Given the description of an element on the screen output the (x, y) to click on. 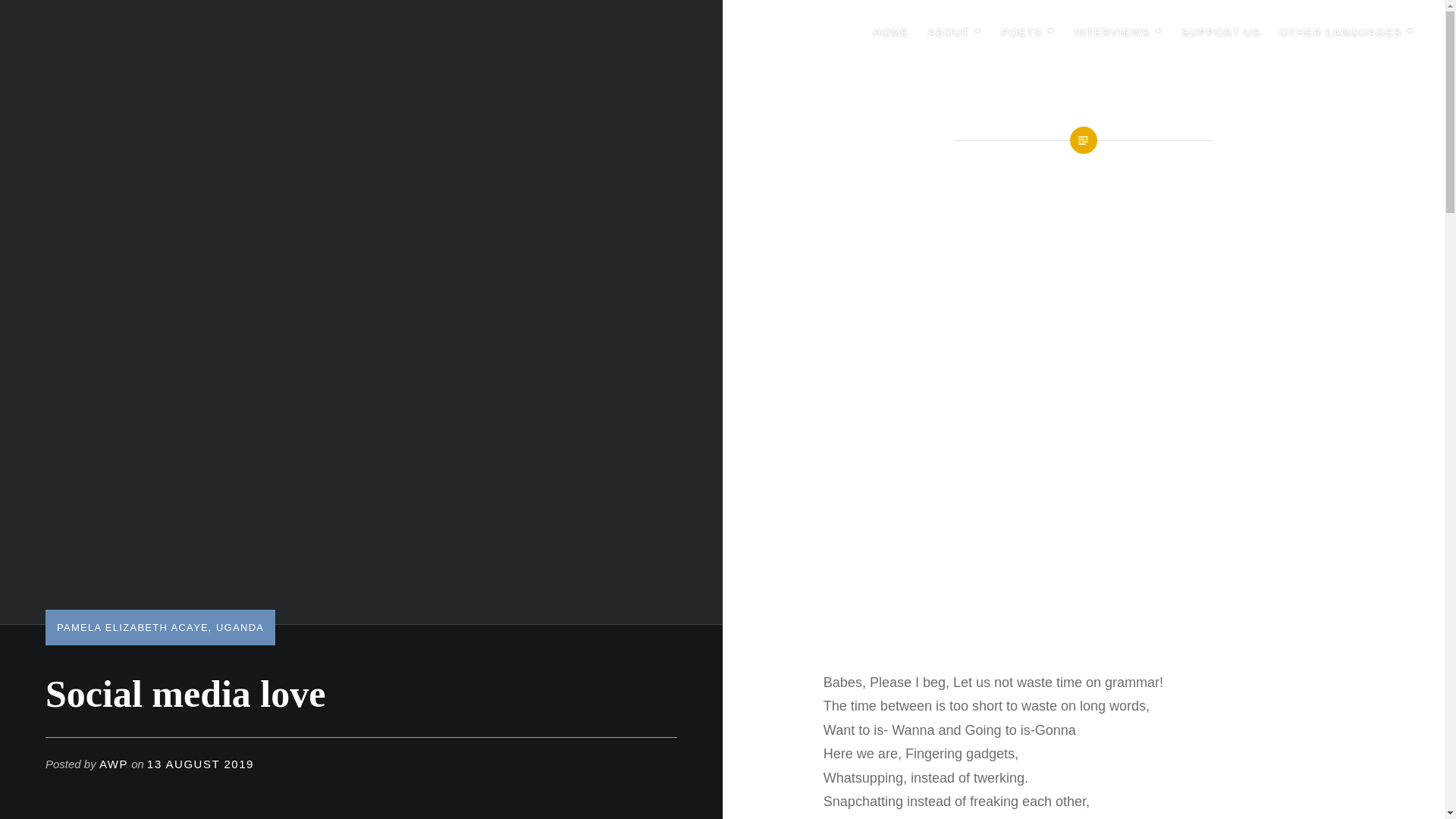
HOME (890, 32)
POETS (1027, 32)
ABOUT (955, 32)
